Given the description of an element on the screen output the (x, y) to click on. 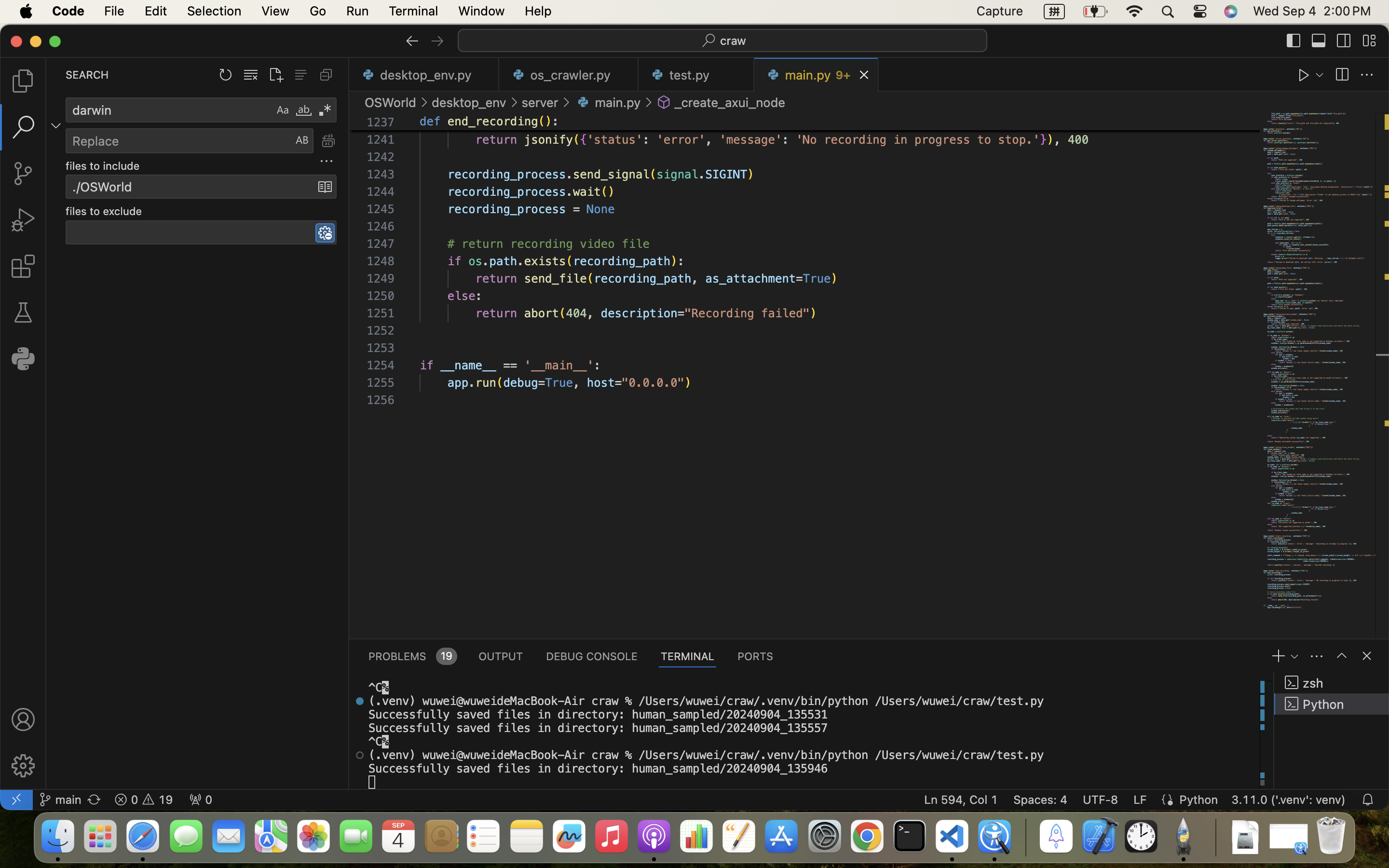
 Element type: AXStaticText (1366, 74)
files to exclude Element type: AXStaticText (103, 211)
 Element type: AXButton (1366, 655)
 Element type: AXStaticText (663, 101)
 Element type: AXGroup (23, 219)
